Given the description of an element on the screen output the (x, y) to click on. 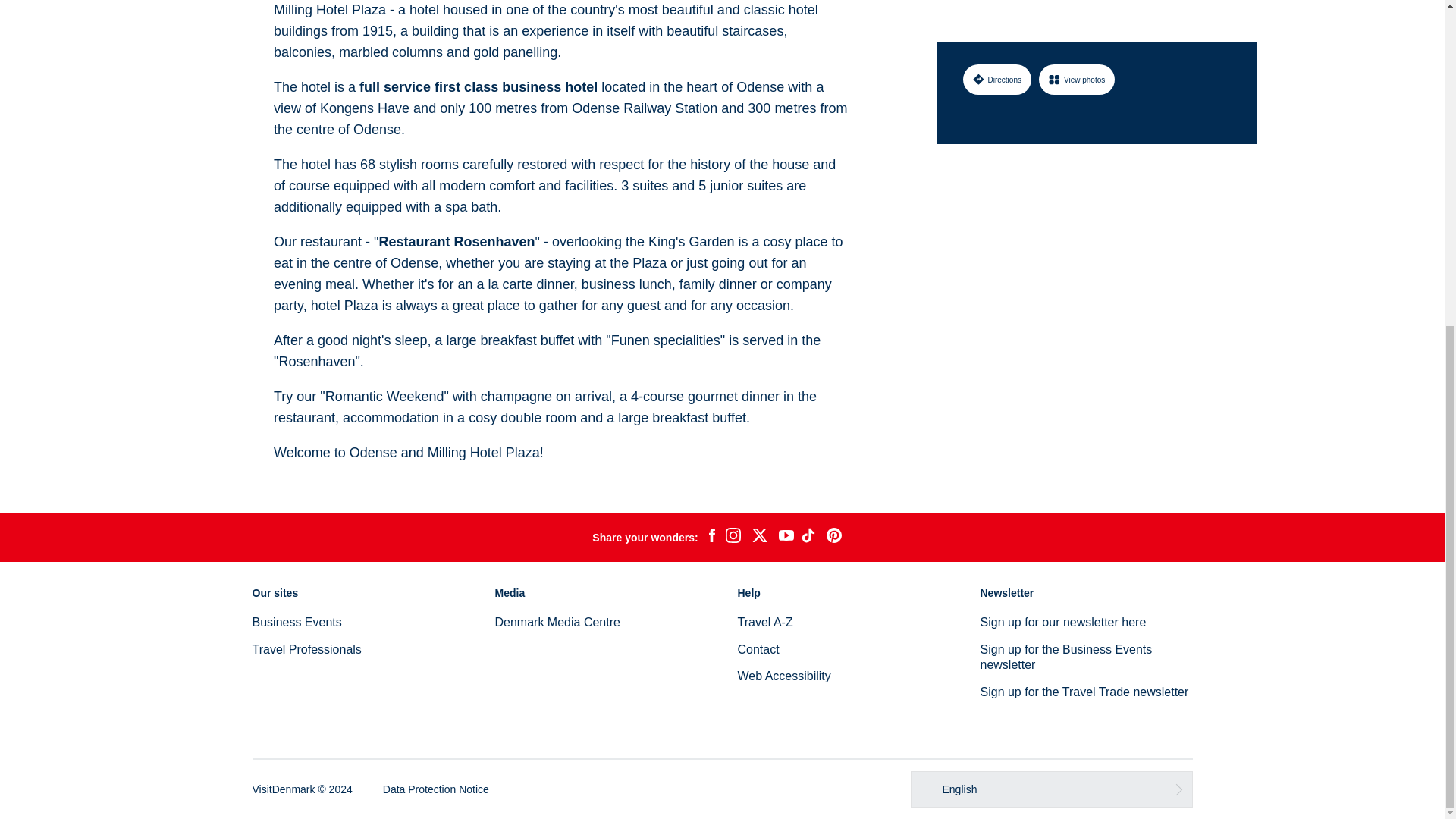
Web Accessibility (782, 675)
Travel Professionals (306, 649)
Travel A-Z (764, 621)
Sign up for the Business Events newsletter (1065, 656)
Denmark Media Centre (557, 621)
facebook (711, 537)
Data Protection Notice (435, 789)
pinterest (834, 537)
youtube (786, 537)
Web Accessibility (782, 675)
Data Protection Notice (435, 789)
instagram (732, 537)
Sign up for our newsletter here (1062, 621)
Sign up for the Travel Trade newsletter (1083, 691)
Business Events (295, 621)
